Given the description of an element on the screen output the (x, y) to click on. 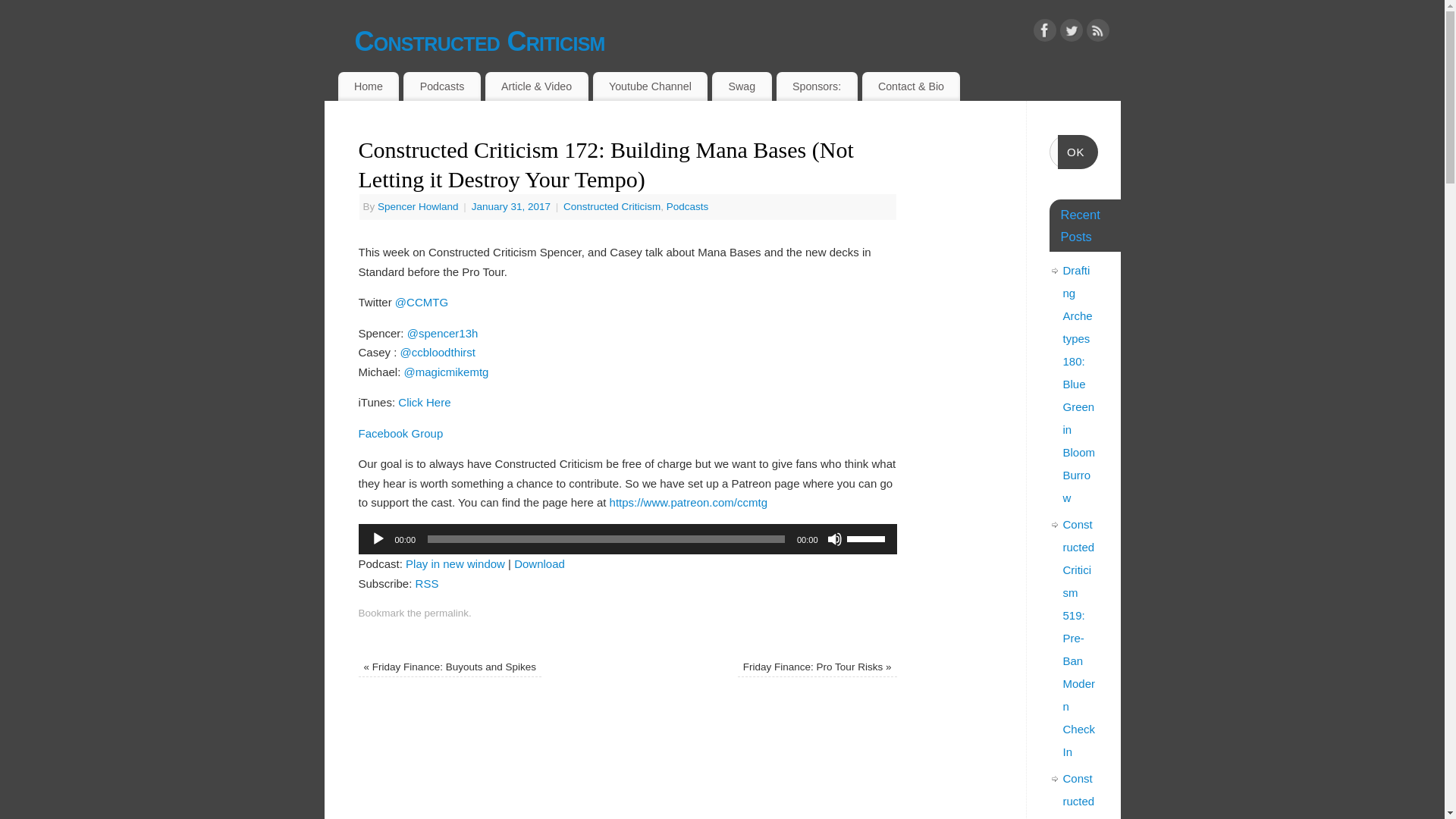
Swag (741, 86)
Youtube Channel (649, 86)
Mute (834, 539)
Constructed Criticism (738, 41)
Play in new window (455, 563)
Play (377, 539)
Constructed Criticism (738, 41)
Spencer Howland (417, 206)
Constructed Criticism (612, 206)
Sponsors: (816, 86)
